Given the description of an element on the screen output the (x, y) to click on. 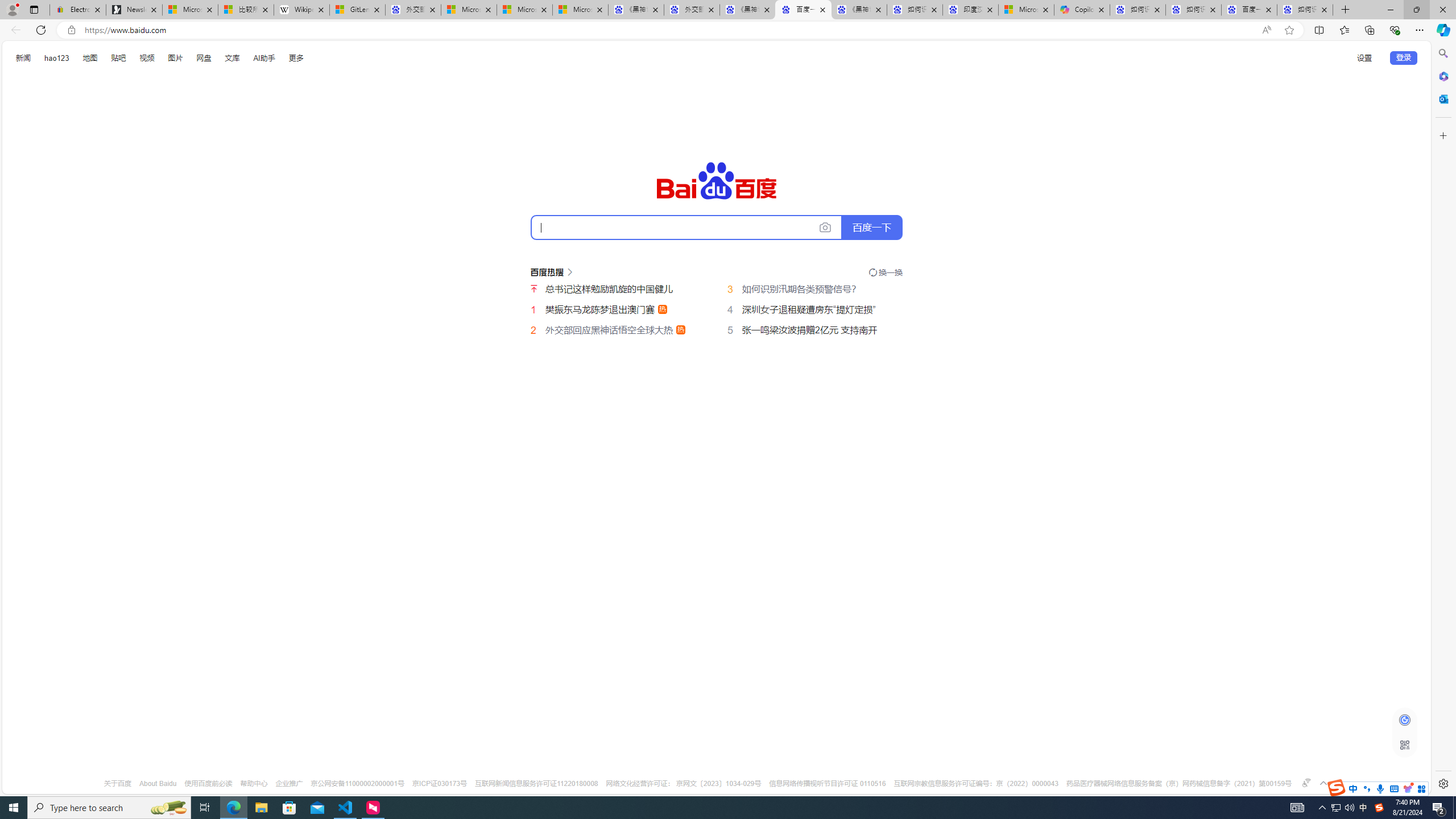
Copilot (1082, 9)
